Given the description of an element on the screen output the (x, y) to click on. 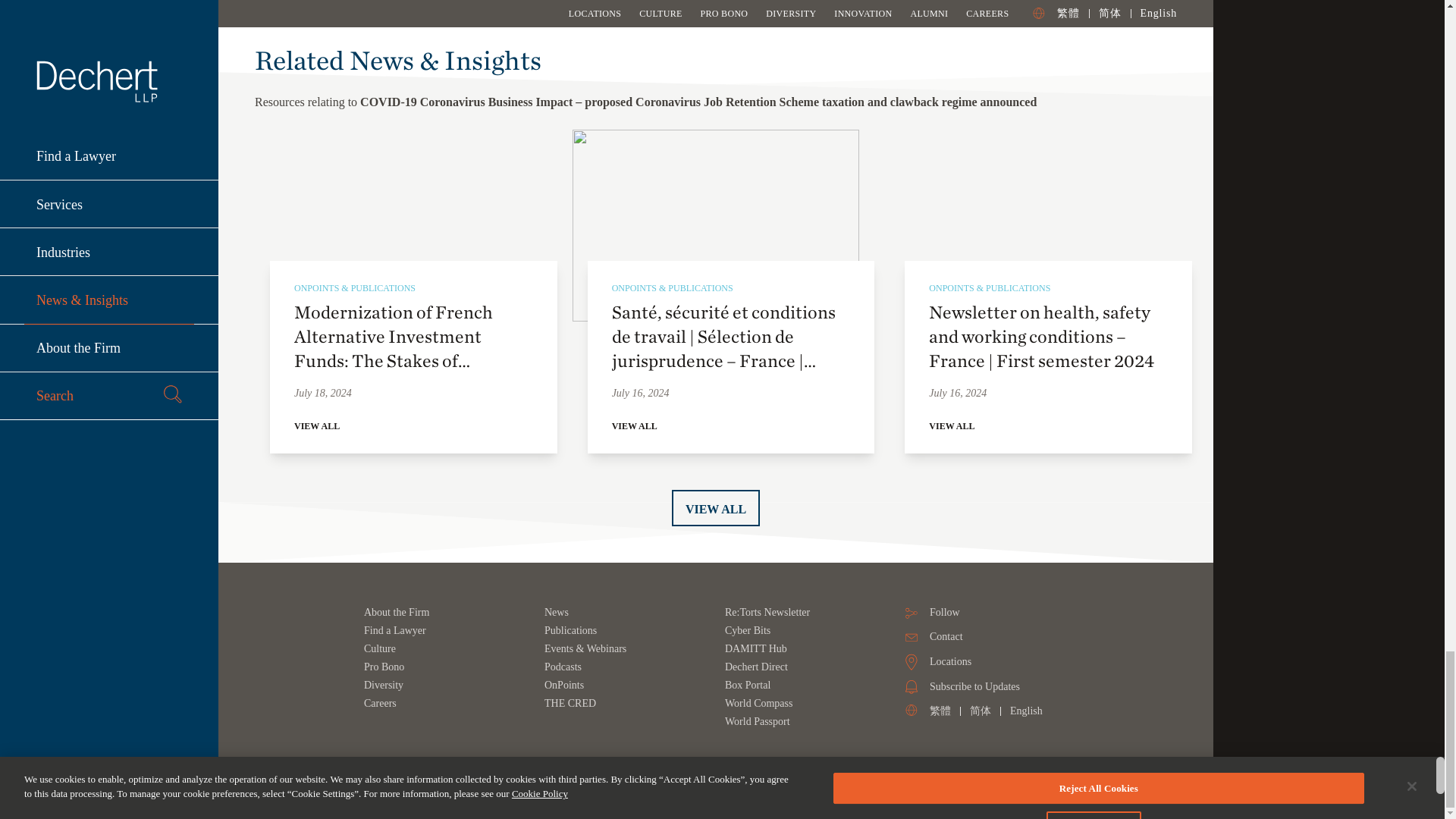
Simplified Chinese (980, 710)
Traditional Chinese (940, 710)
